Given the description of an element on the screen output the (x, y) to click on. 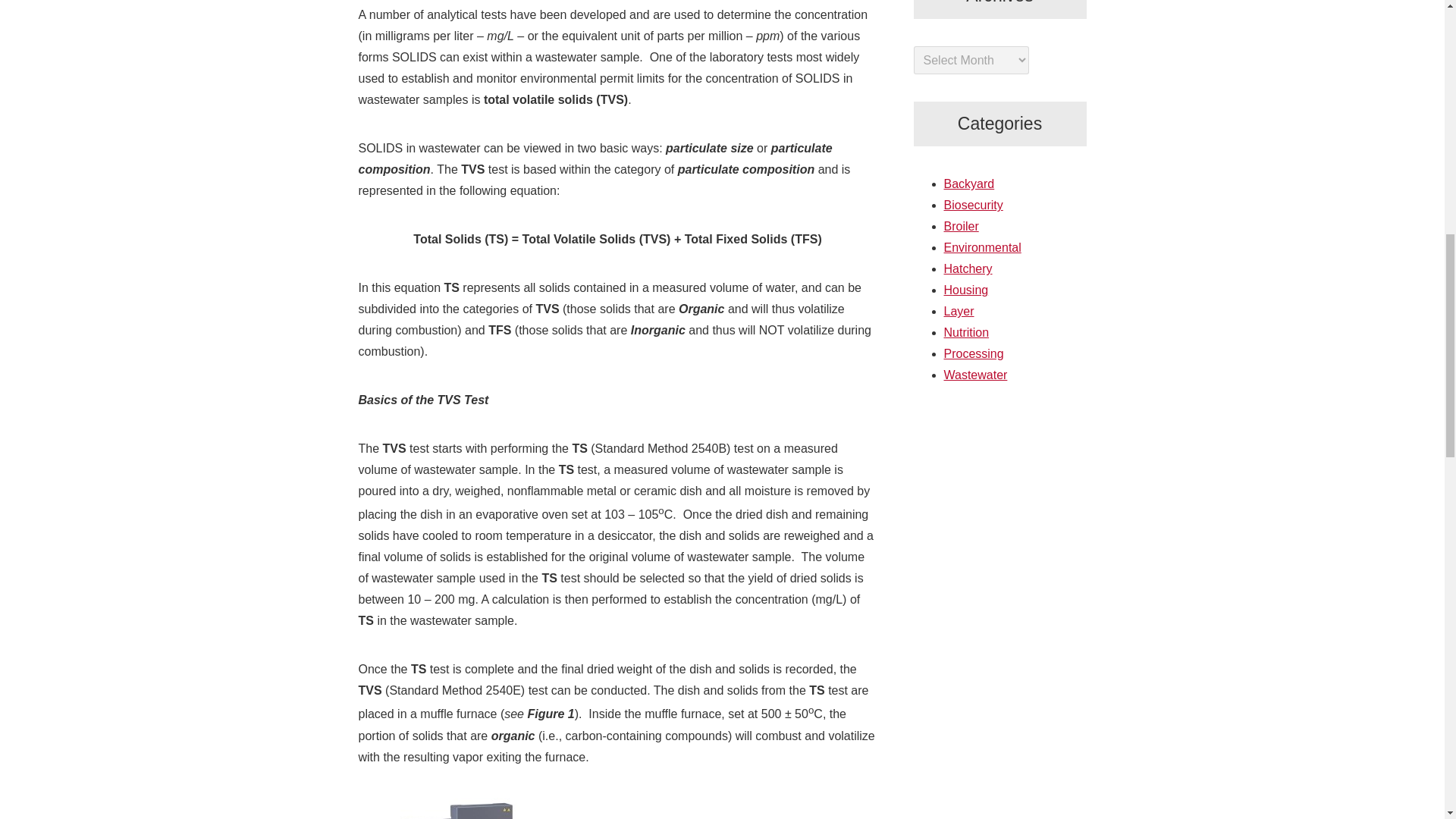
Layer (958, 310)
Housing (965, 289)
Wastewater (975, 374)
Hatchery (967, 268)
Backyard (968, 183)
Biosecurity (973, 205)
Environmental (981, 246)
Nutrition (965, 332)
Processing (973, 353)
Broiler (960, 226)
